Given the description of an element on the screen output the (x, y) to click on. 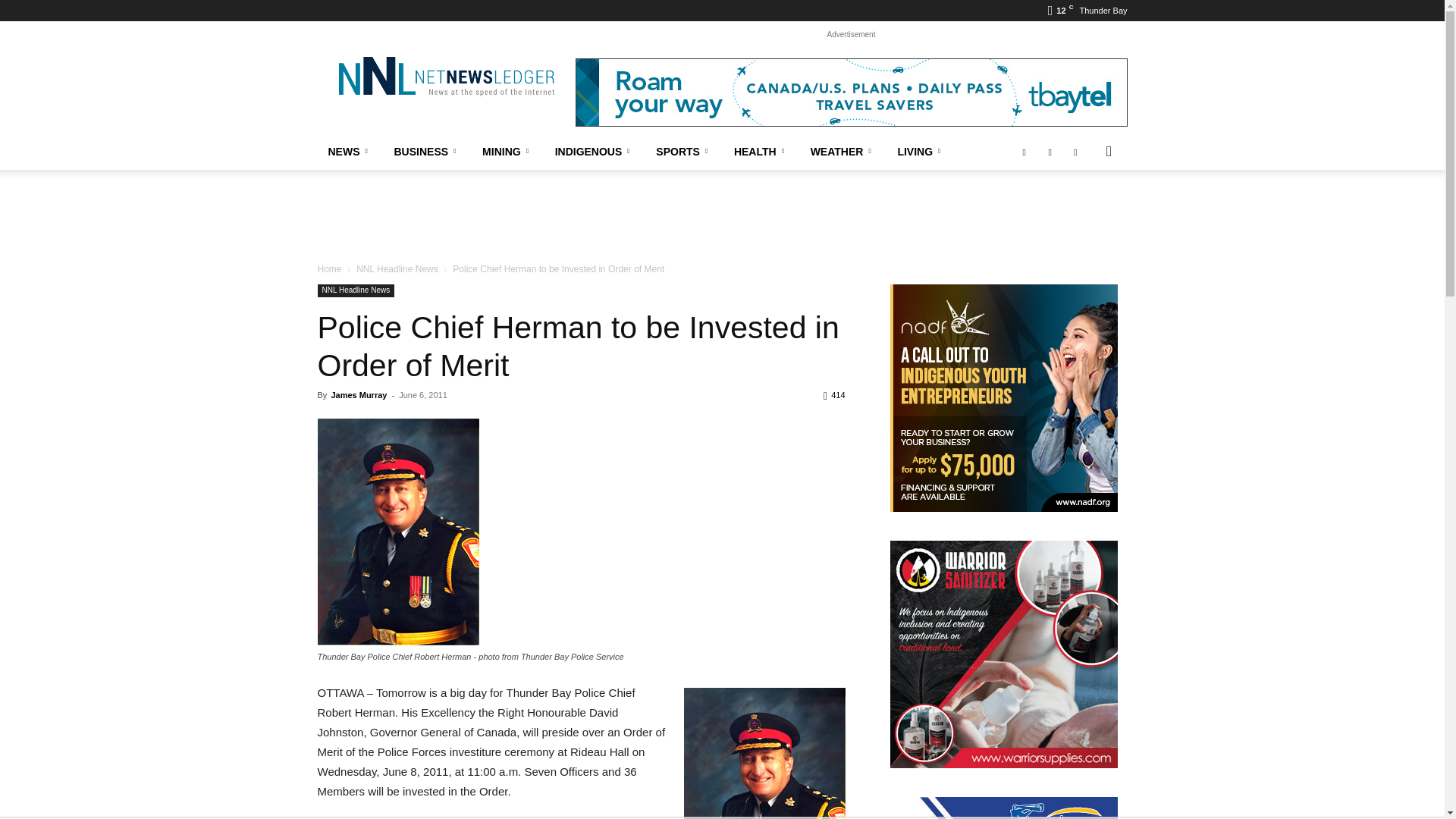
View all posts in NNL Headline News (397, 268)
Chief-Herman (764, 753)
NetNewsLedger (445, 76)
tbaytel (850, 92)
